Given the description of an element on the screen output the (x, y) to click on. 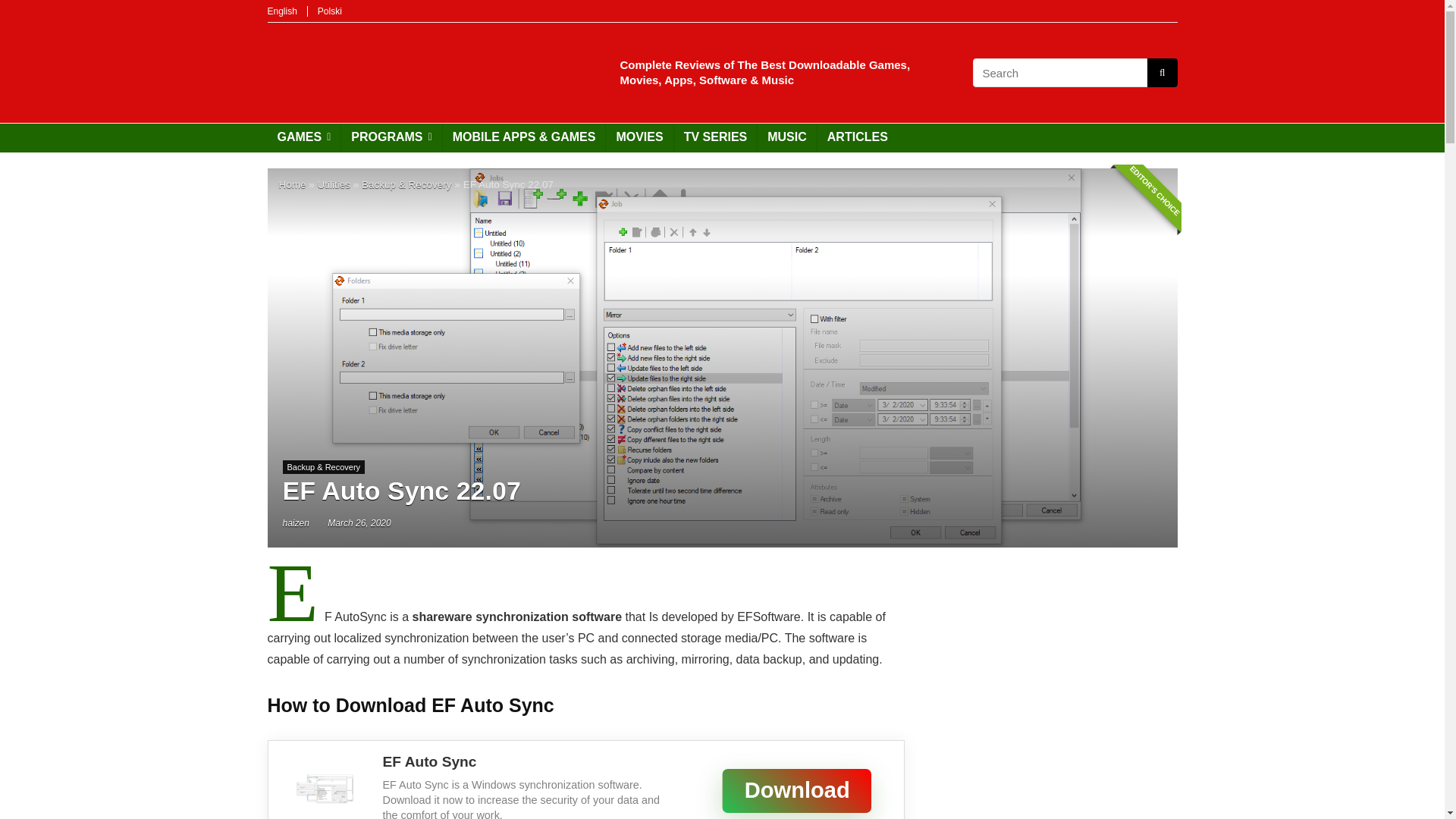
MOVIES (638, 137)
TV SERIES (715, 137)
MUSIC (786, 137)
English (281, 10)
Polski (329, 10)
haizen (295, 522)
Utilities (333, 184)
GAMES (303, 137)
PROGRAMS (390, 137)
Home (292, 184)
ARTICLES (857, 137)
Download (763, 780)
